Given the description of an element on the screen output the (x, y) to click on. 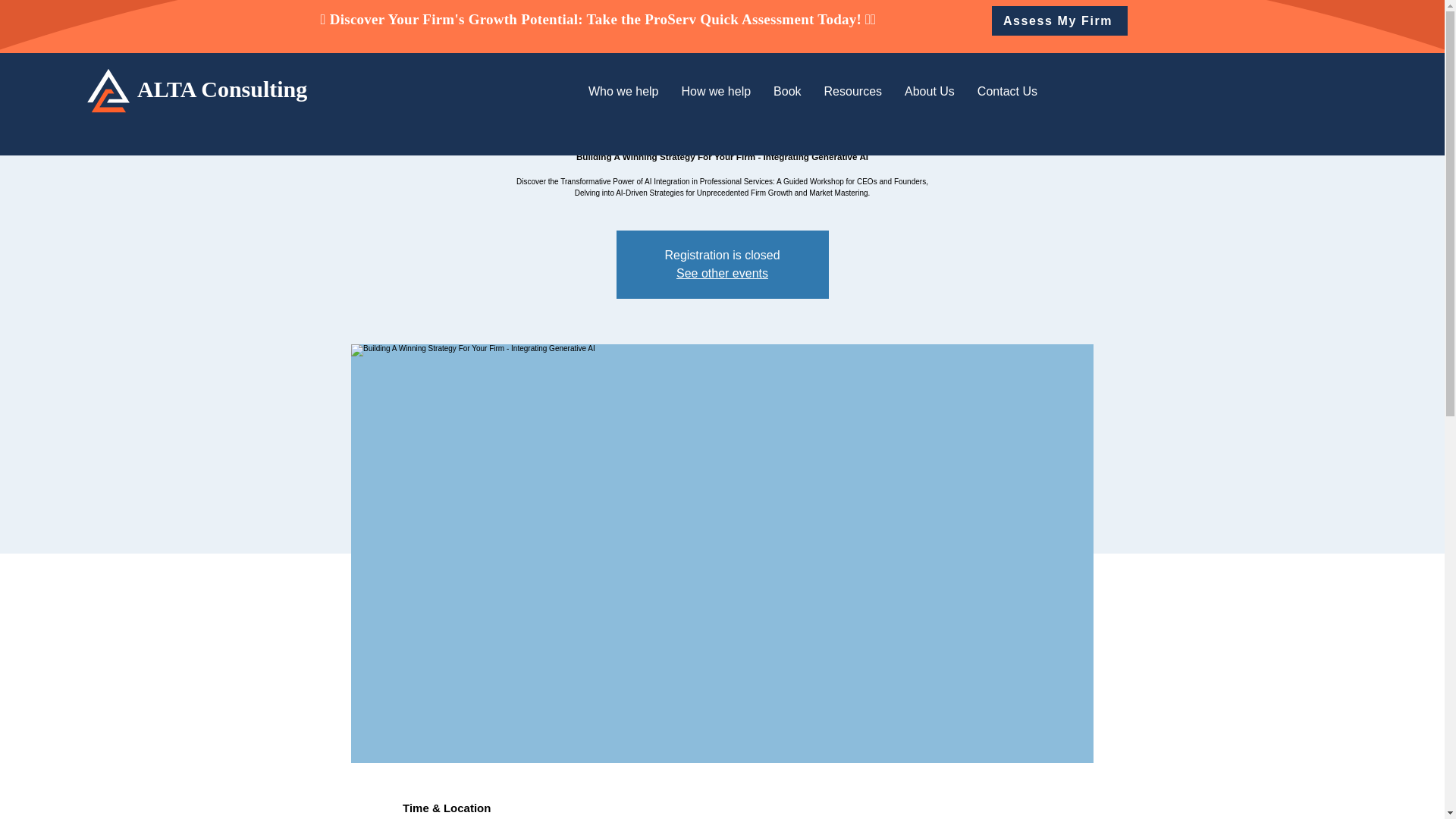
Assess My Firm (1058, 20)
Contact Us (1007, 91)
About Us (929, 91)
See other events (722, 273)
Book (786, 91)
ALTA Consulting (221, 88)
